Given the description of an element on the screen output the (x, y) to click on. 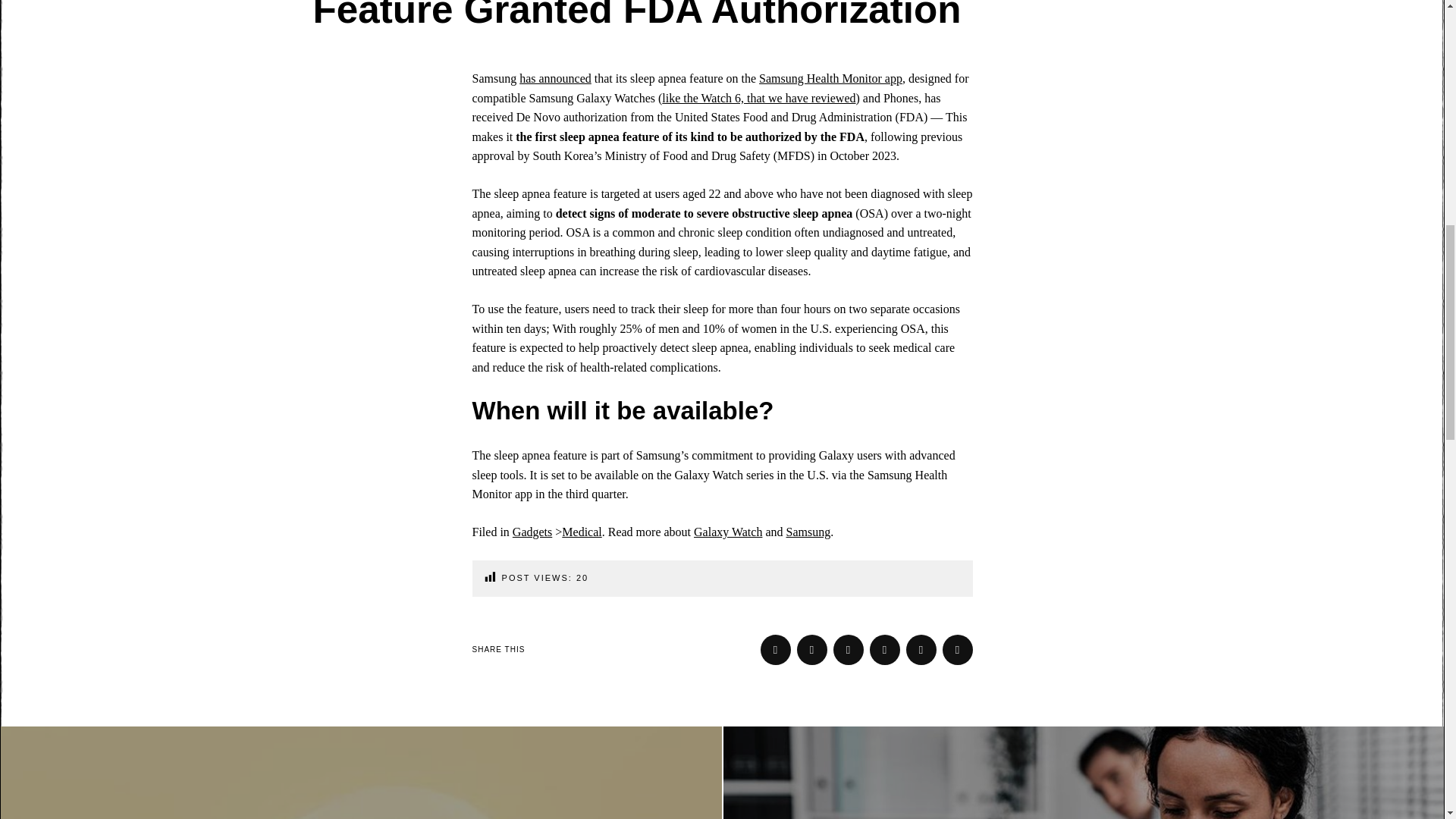
Galaxy Watch (727, 531)
Medical (581, 531)
has announced (555, 78)
Samsung Health Monitor app (830, 78)
Gadgets (531, 531)
like the Watch 6, that we have reviewed (759, 97)
Samsung (1400, 20)
